Given the description of an element on the screen output the (x, y) to click on. 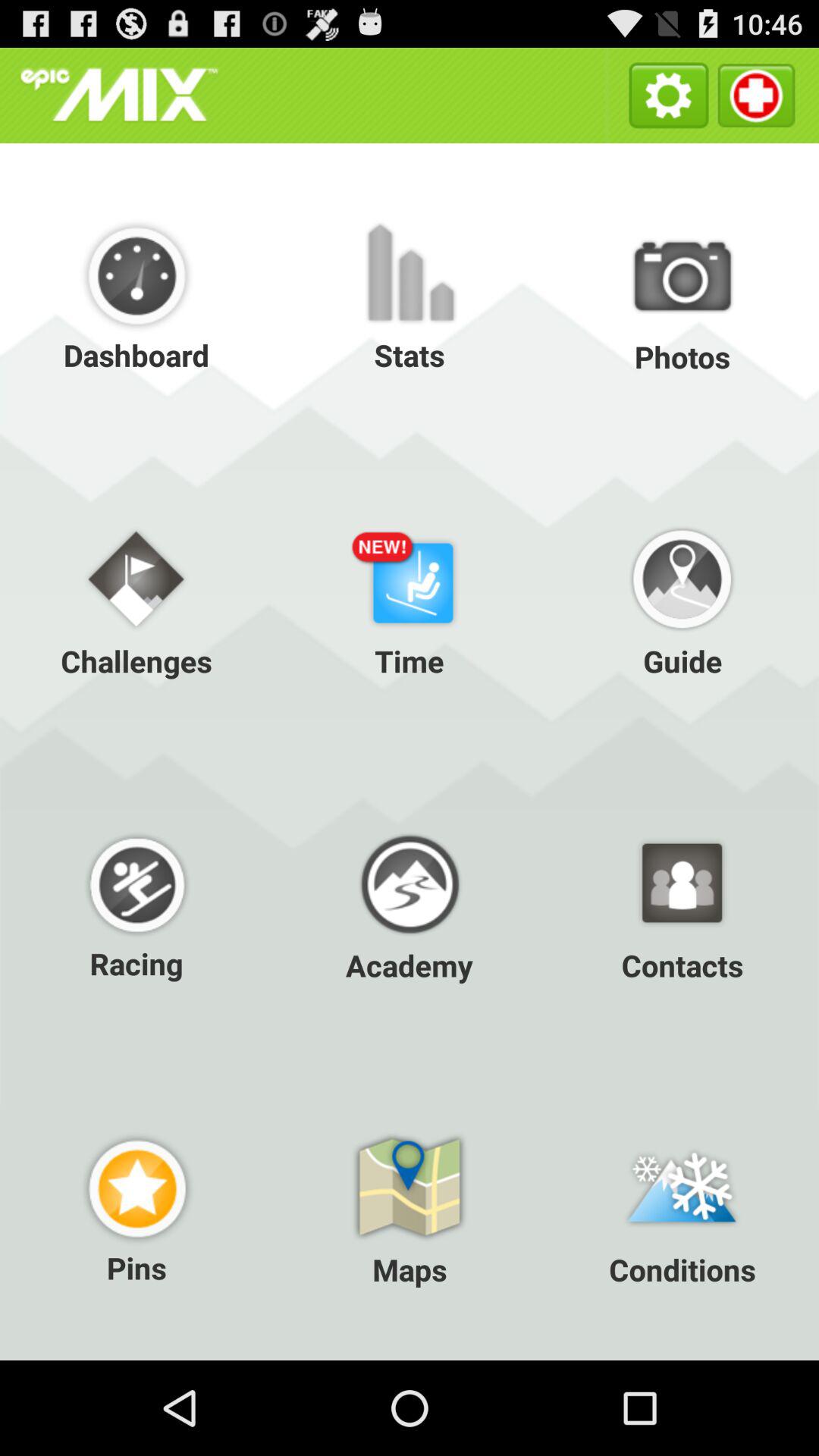
turn on icon at the bottom left corner (136, 1208)
